Given the description of an element on the screen output the (x, y) to click on. 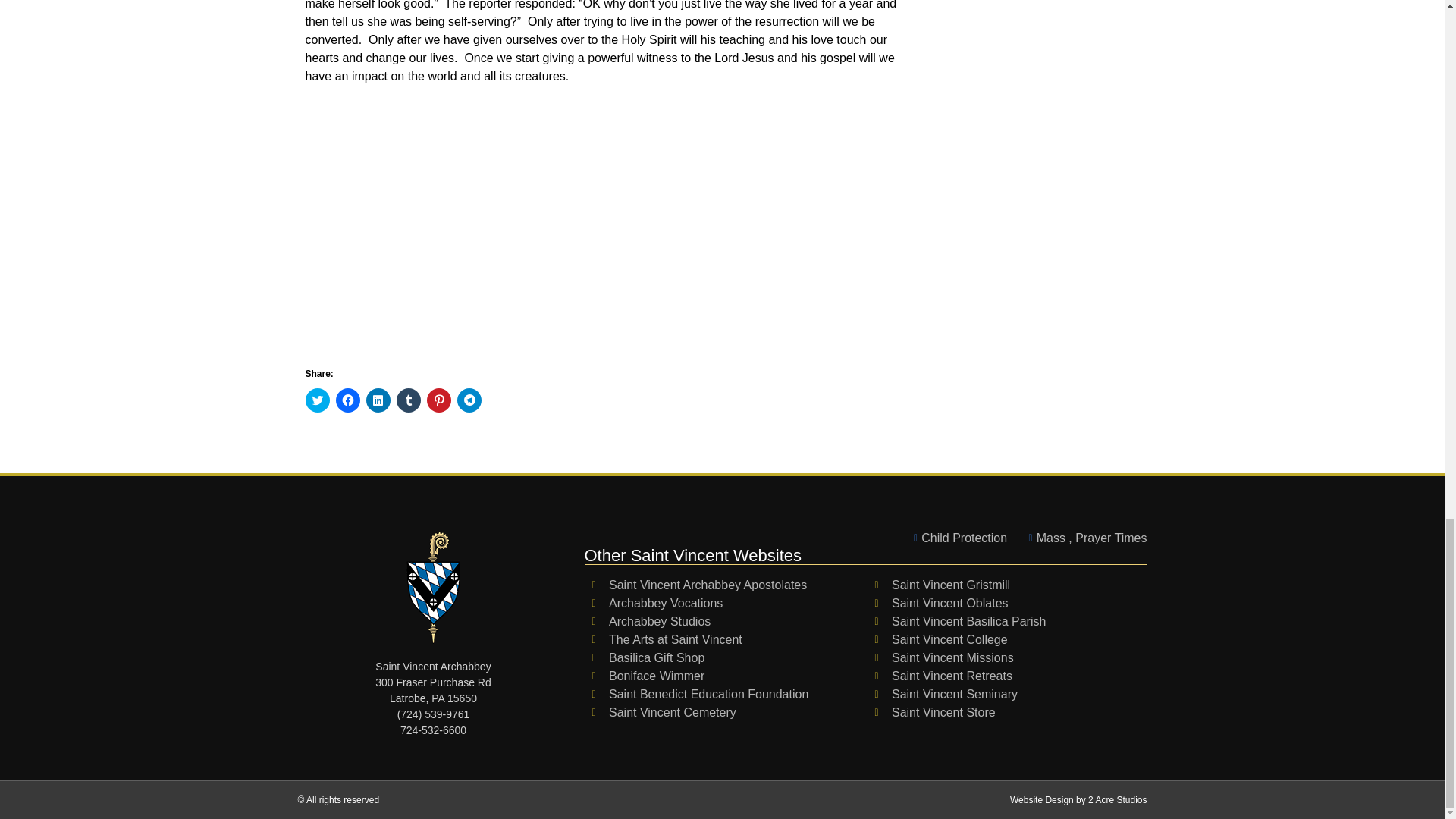
Click to share on Telegram (468, 400)
Child Protection (955, 538)
Click to share on LinkedIn (377, 400)
Click to share on Tumblr (408, 400)
Saint Vincent Archabbey Apostolates (725, 585)
Mass , Prayer Times (1083, 538)
Click to share on Facebook (346, 400)
Click to share on Twitter (316, 400)
Archabbey Vocations (725, 603)
Click to share on Pinterest (437, 400)
